Given the description of an element on the screen output the (x, y) to click on. 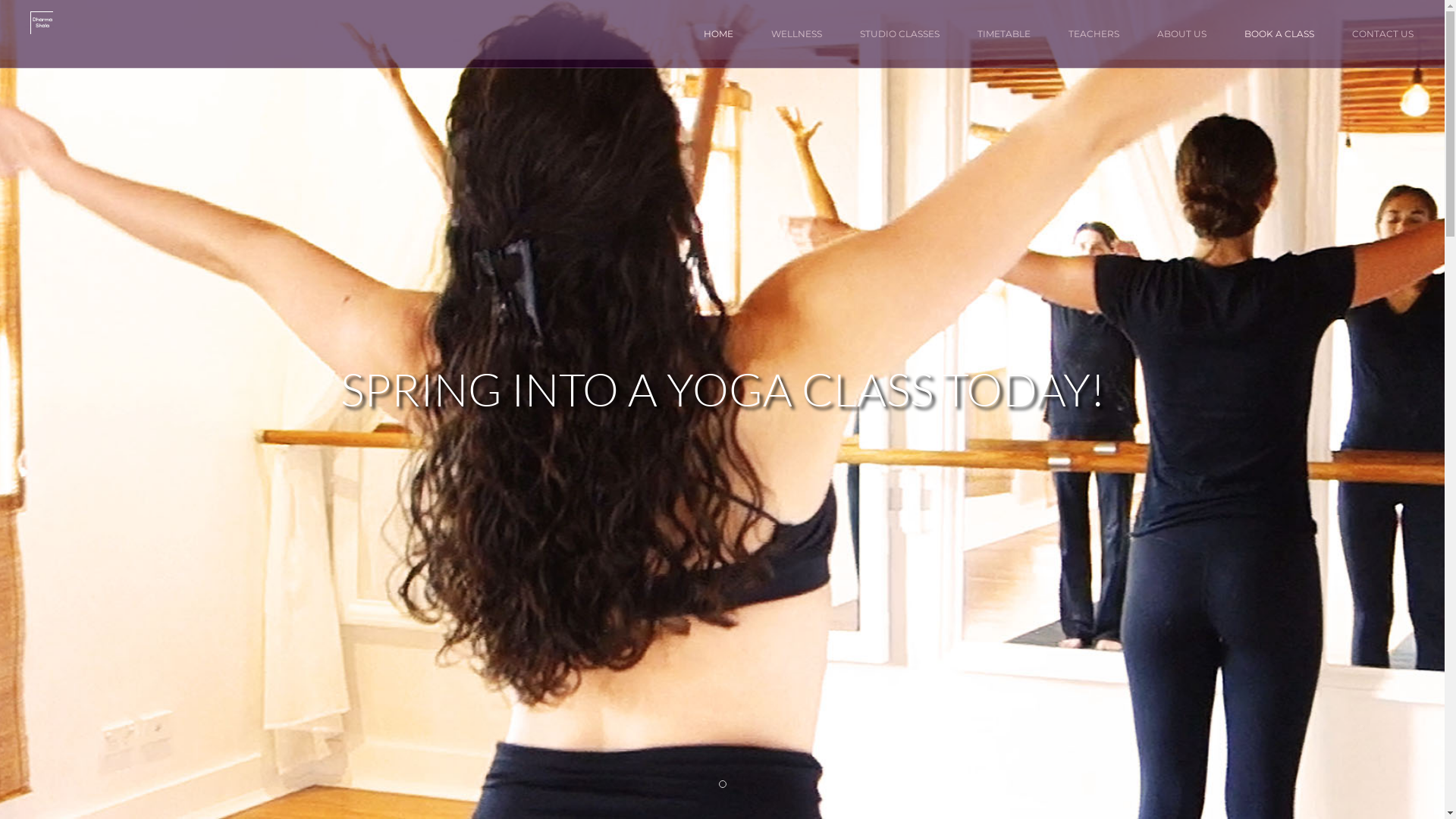
WELLNESS Element type: text (796, 34)
TIMETABLE Element type: text (1003, 34)
TEACHERS Element type: text (1093, 34)
1 Element type: text (722, 783)
BOOK A CLASS Element type: text (1278, 34)
HOME Element type: text (718, 34)
CONTACT US Element type: text (1382, 34)
ABOUT US Element type: text (1181, 34)
STUDIO CLASSES Element type: text (899, 34)
